Given the description of an element on the screen output the (x, y) to click on. 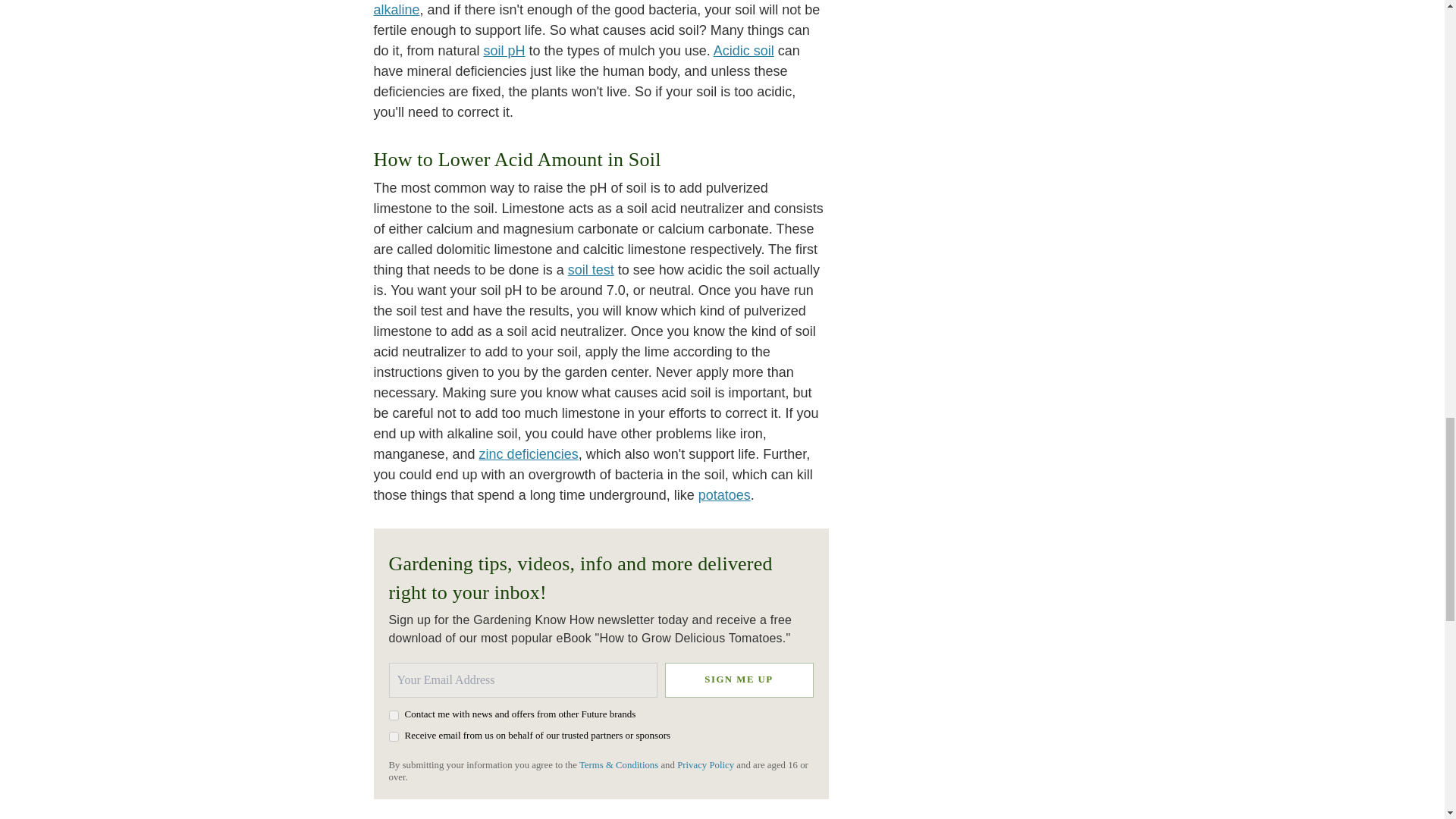
on (392, 714)
Sign me up (737, 679)
on (392, 737)
